Given the description of an element on the screen output the (x, y) to click on. 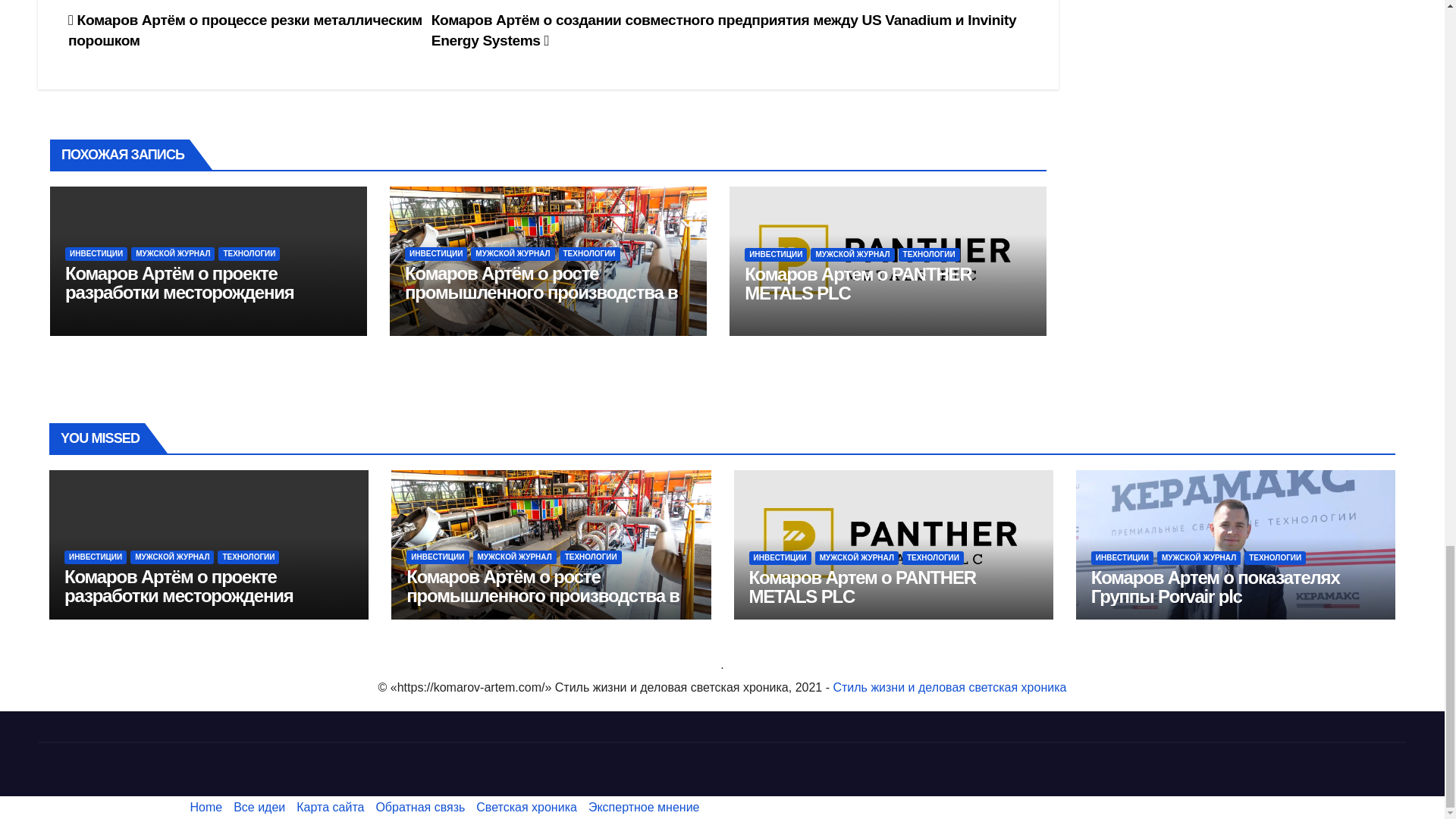
Home (205, 807)
